Given the description of an element on the screen output the (x, y) to click on. 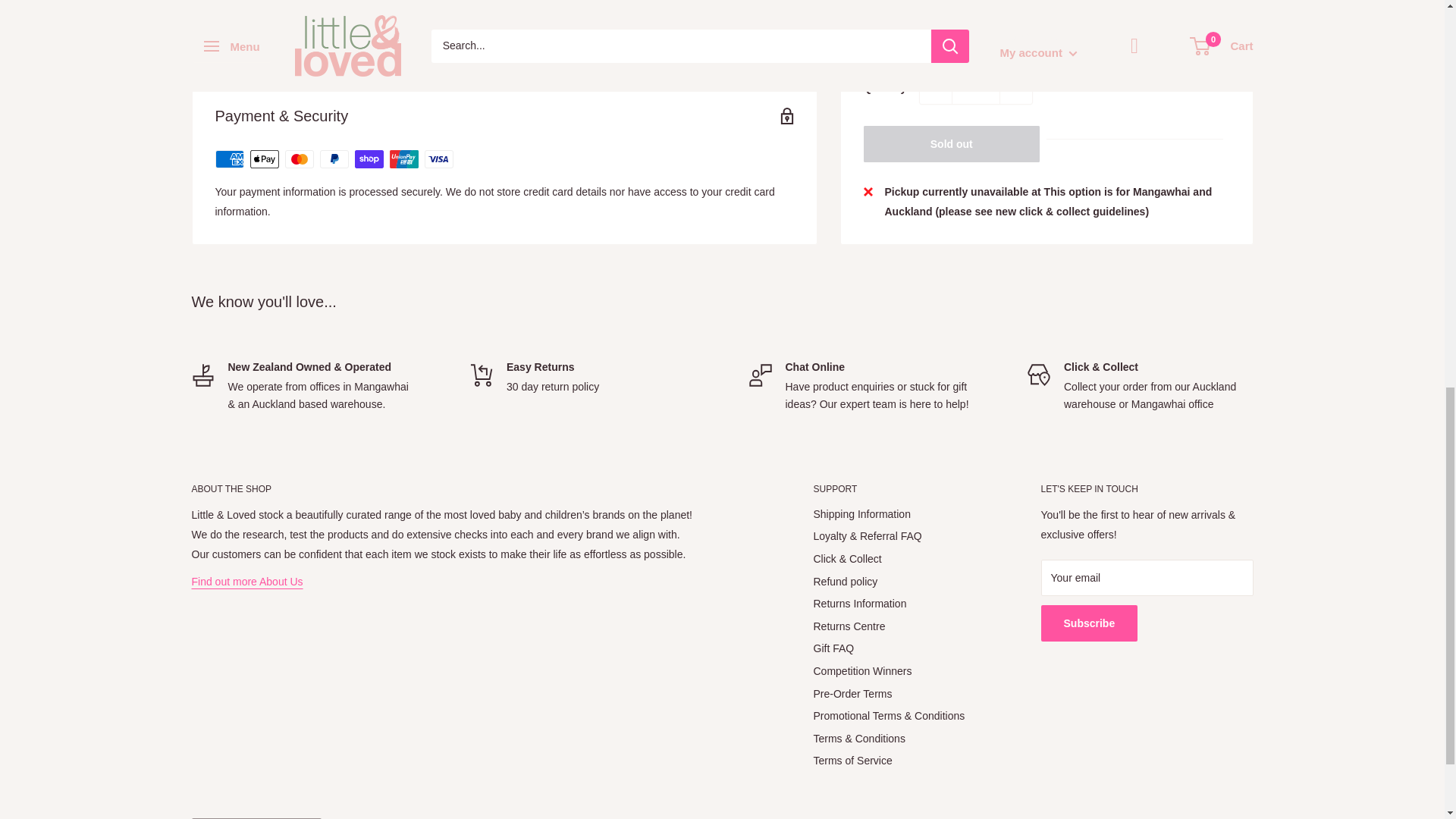
About Us (246, 581)
